Given the description of an element on the screen output the (x, y) to click on. 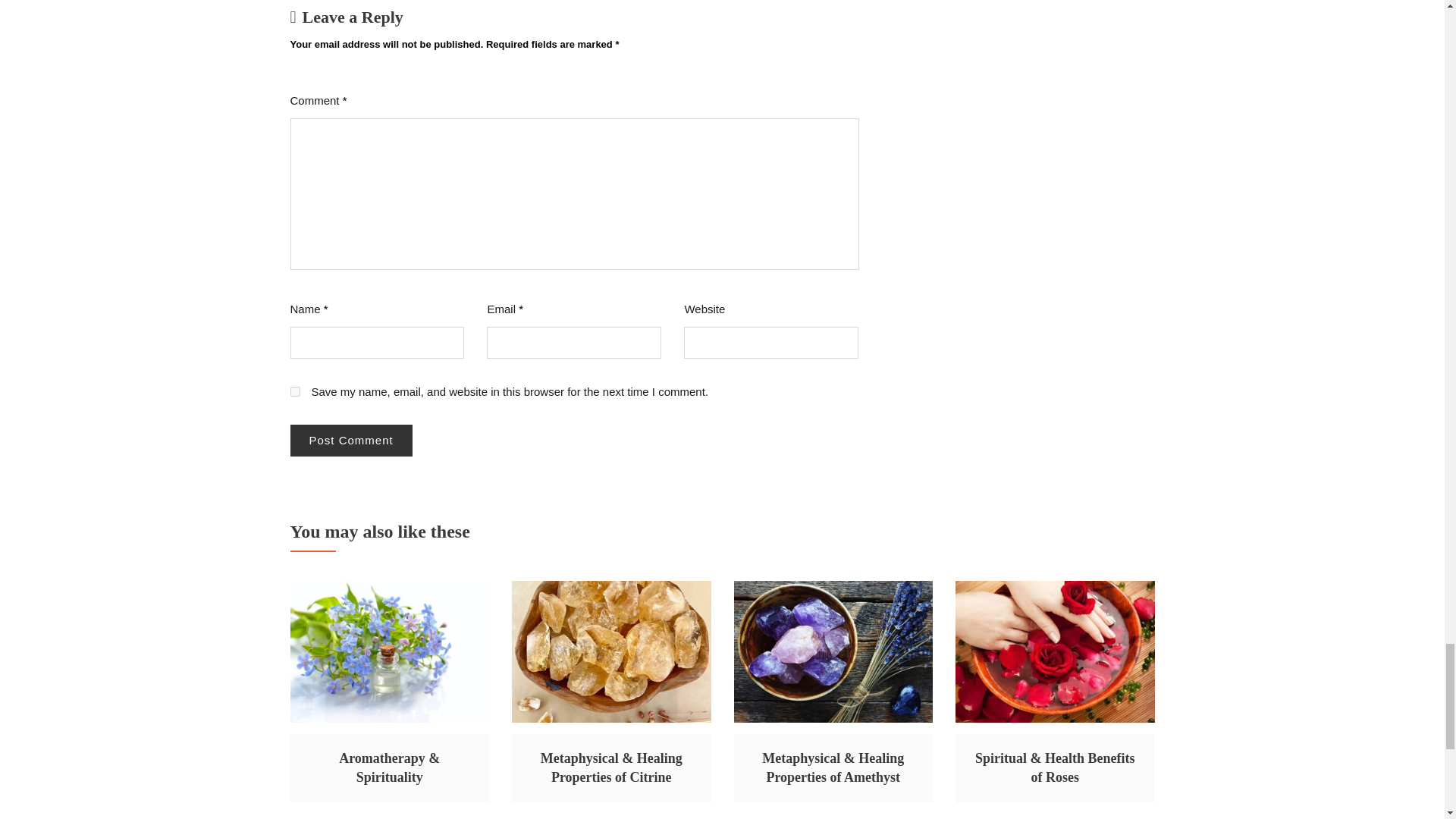
yes (294, 391)
Post Comment (350, 440)
